Given the description of an element on the screen output the (x, y) to click on. 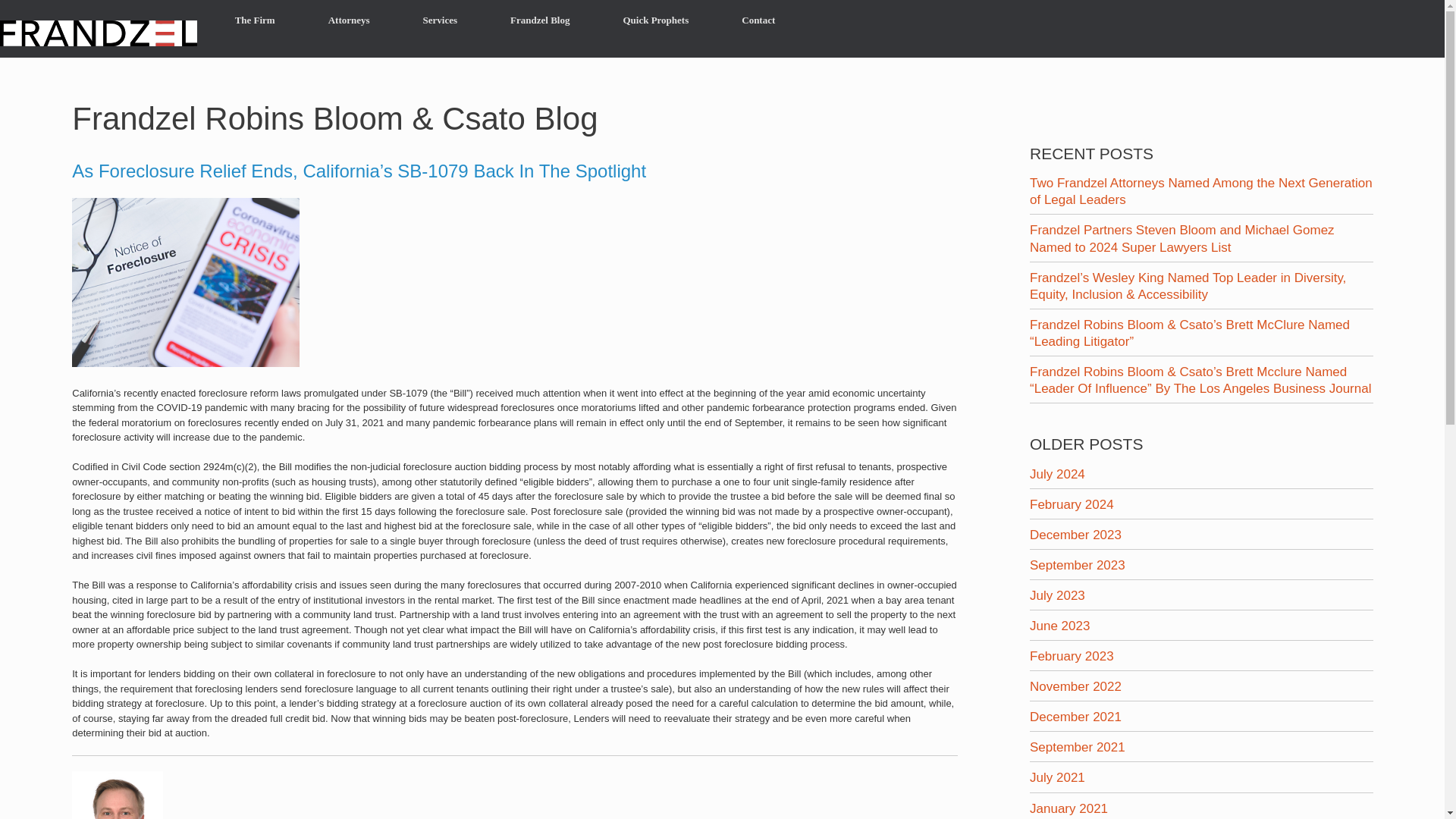
The Firm (254, 20)
July 2021 (1056, 777)
June 2023 (1059, 626)
Quick Prophets (654, 20)
September 2021 (1077, 747)
Frandzel Blog (539, 20)
December 2023 (1075, 534)
Attorneys (348, 20)
